Given the description of an element on the screen output the (x, y) to click on. 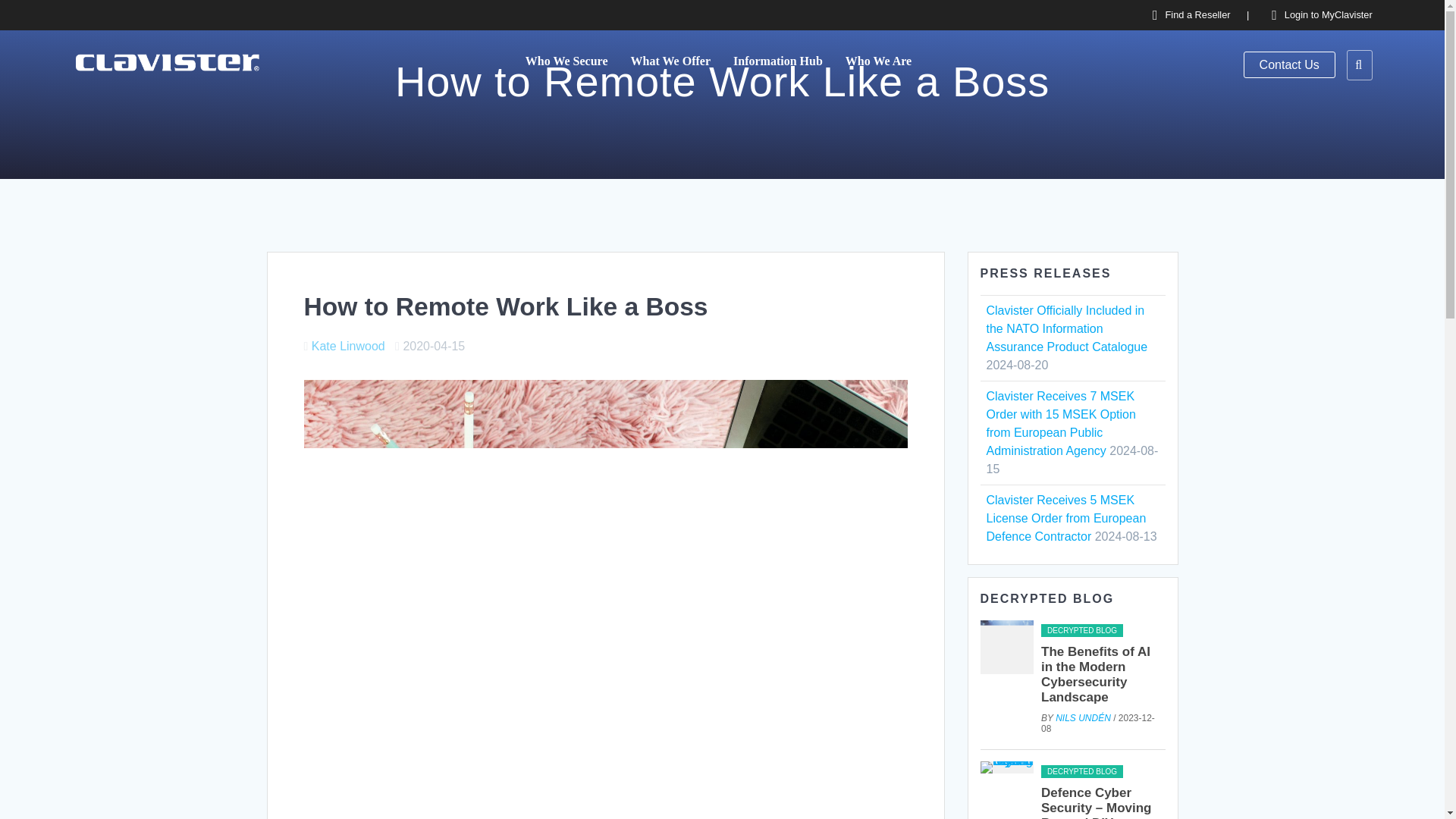
Posts by Kate Linwood (348, 345)
What We Offer (670, 60)
Login to MyClavister (1328, 14)
Who We Secure (566, 60)
Find a Reseller (1197, 14)
